Given the description of an element on the screen output the (x, y) to click on. 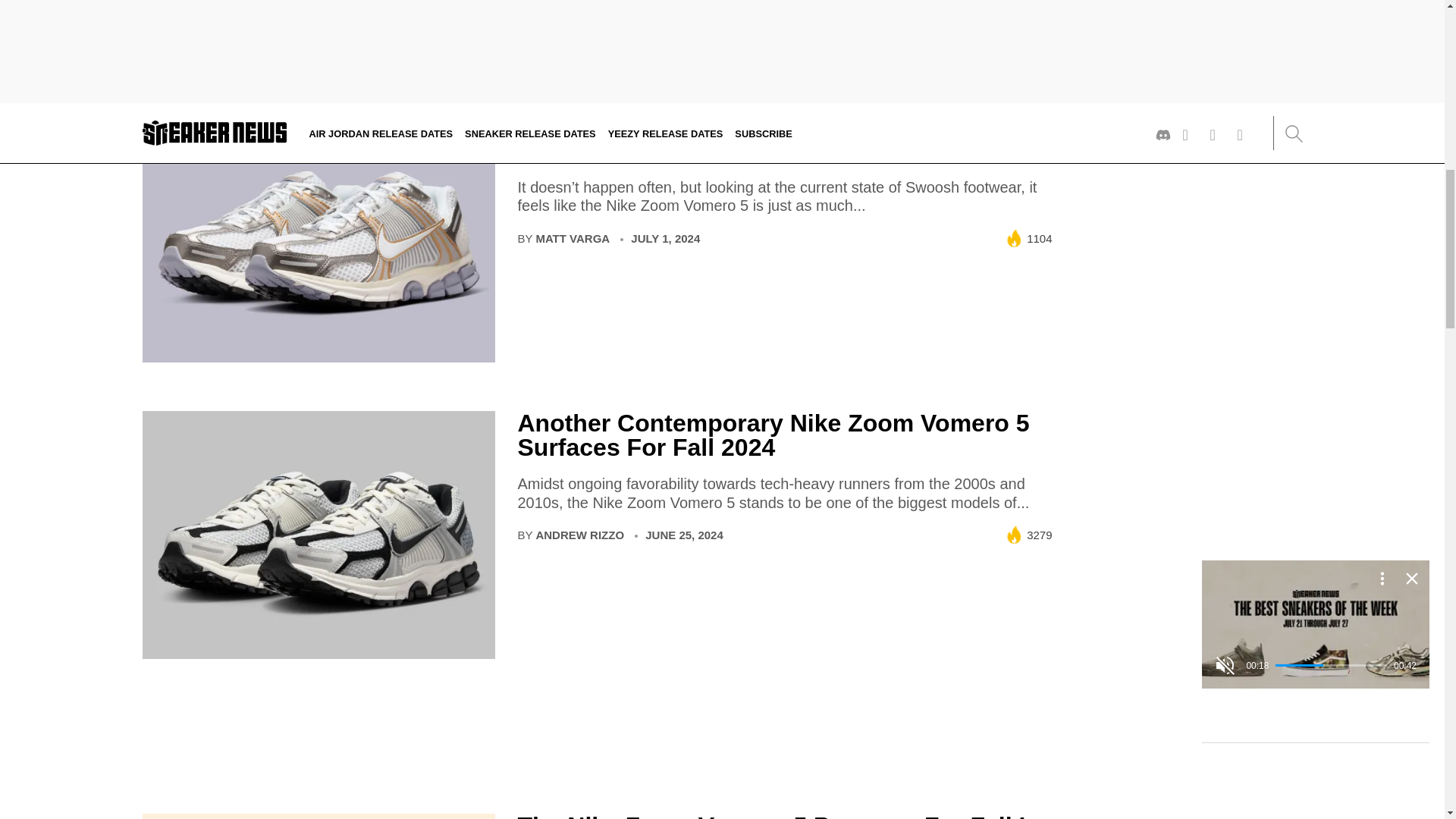
3rd party ad content (597, 741)
The Nike Zoom Vomero 5 Prepares For Fall In Brown Tones (777, 815)
3rd party ad content (721, 785)
MATT VARGA (572, 237)
ANDREW RIZZO (579, 534)
3rd party ad content (1189, 3)
